Given the description of an element on the screen output the (x, y) to click on. 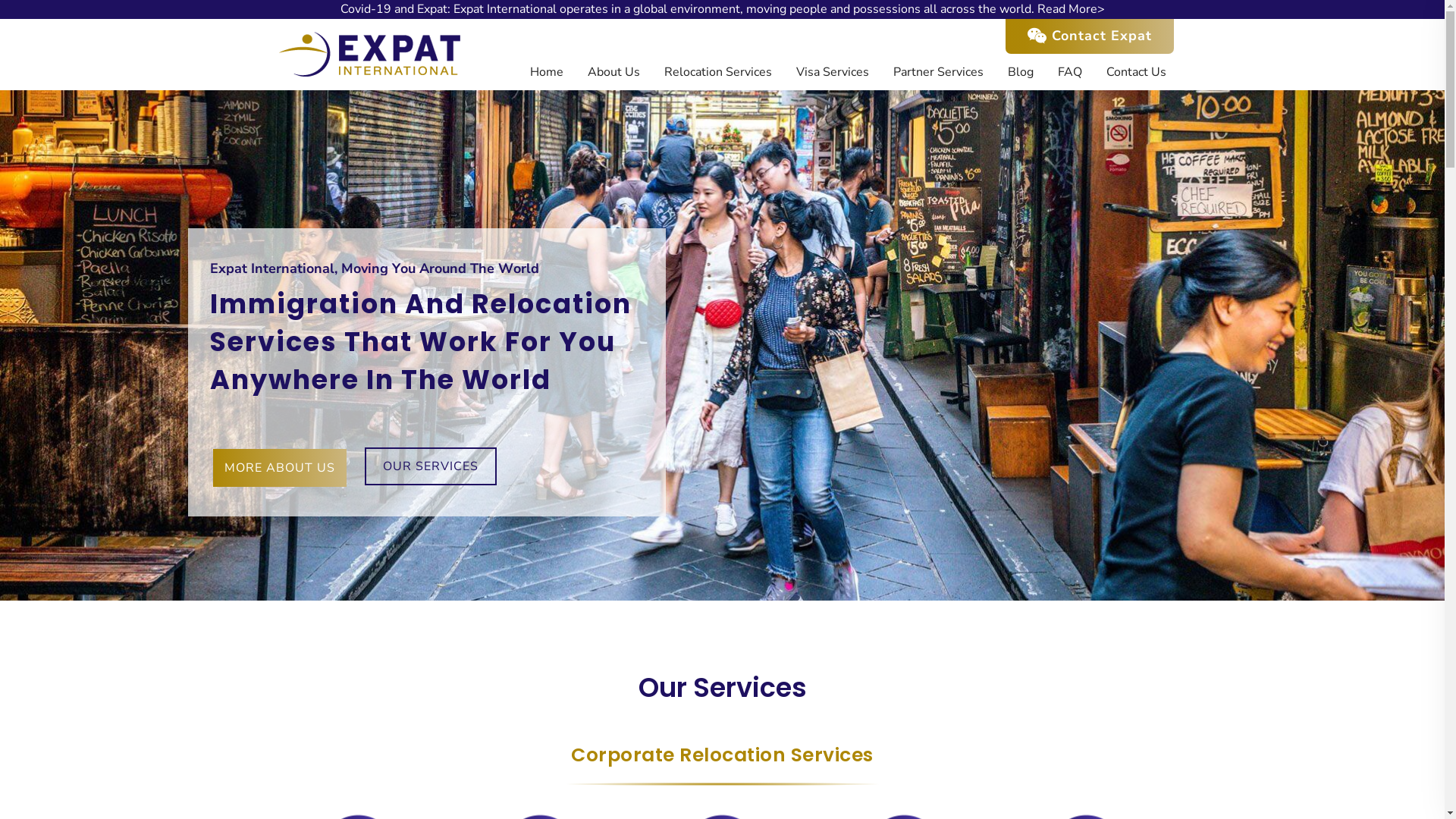
Read More> Element type: text (1070, 8)
Blog Element type: text (1019, 71)
About Us Element type: text (612, 71)
Contact Us Element type: text (1135, 71)
OUR SERVICES Element type: text (430, 466)
Relocation Services Element type: text (717, 71)
Home Element type: text (545, 71)
Partner Services Element type: text (938, 71)
MORE ABOUT US Element type: text (279, 467)
FAQ Element type: text (1069, 71)
Contact Expat Element type: text (1089, 35)
Search Element type: text (17, 15)
Visa Services Element type: text (832, 71)
